Given the description of an element on the screen output the (x, y) to click on. 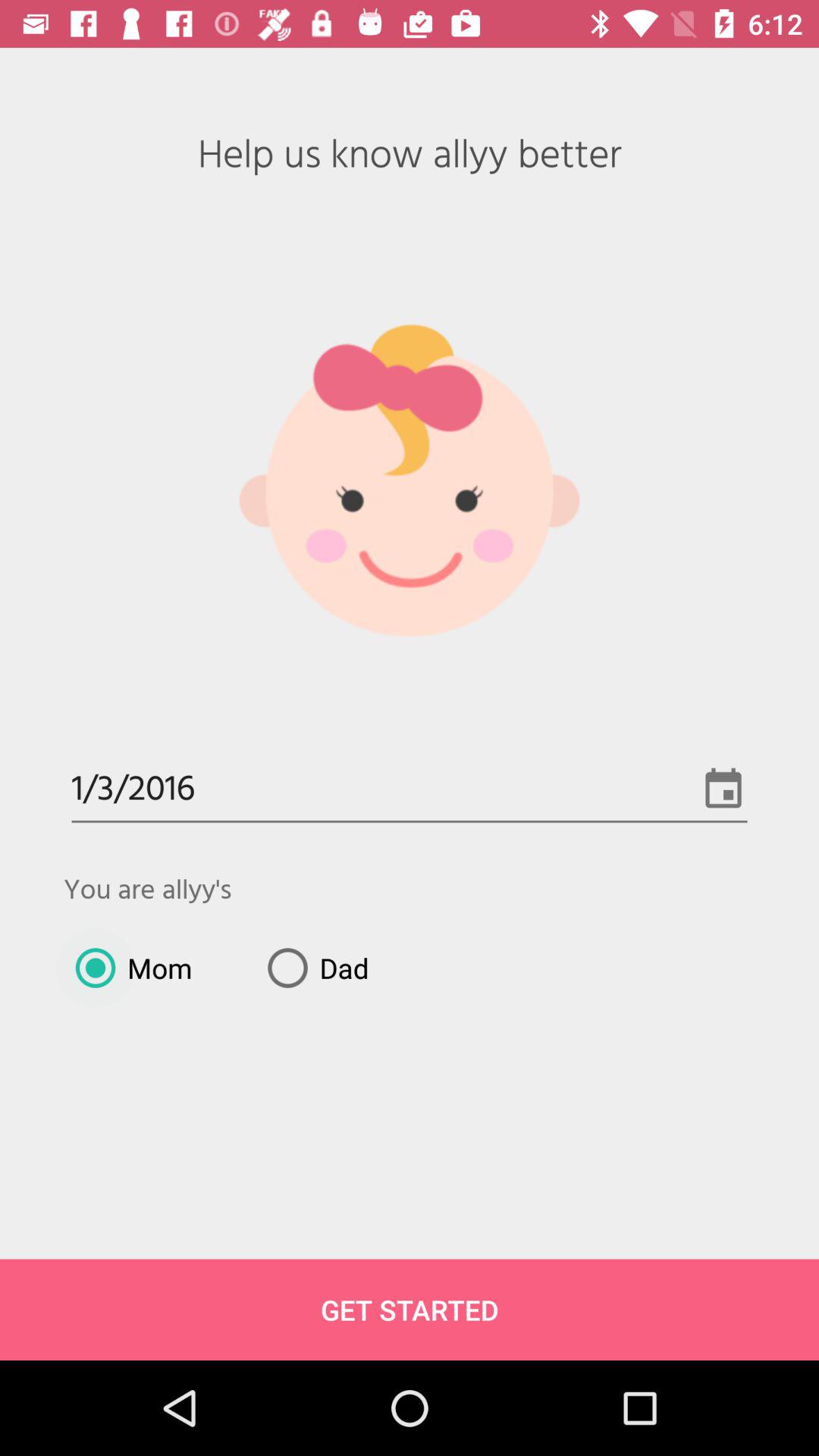
click get started icon (409, 1309)
